Given the description of an element on the screen output the (x, y) to click on. 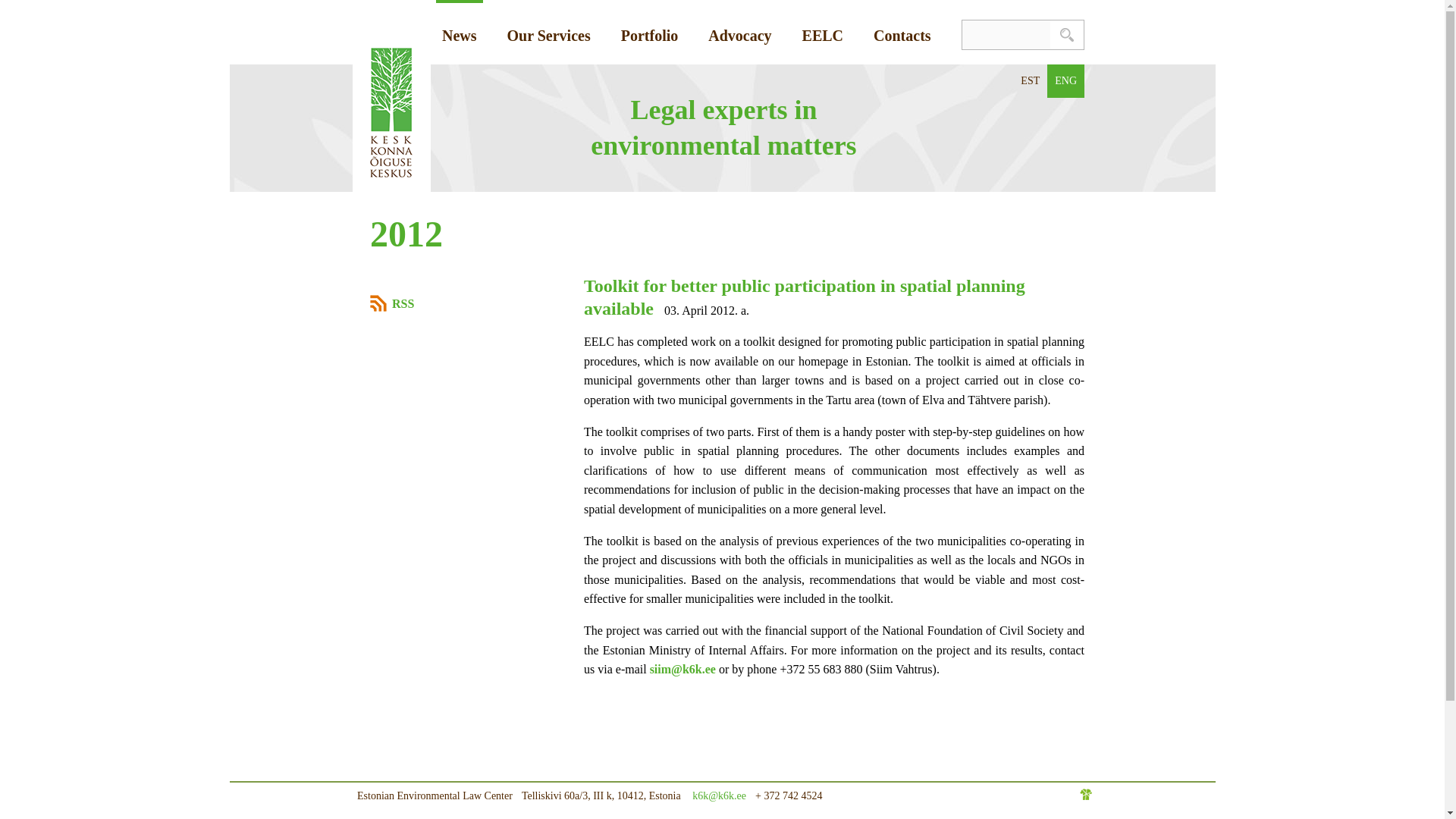
RSS (461, 302)
Advocacy (739, 32)
Portfolio (649, 32)
EST (1029, 80)
ENG (1065, 80)
Contacts (902, 32)
Our Services (548, 32)
